Given the description of an element on the screen output the (x, y) to click on. 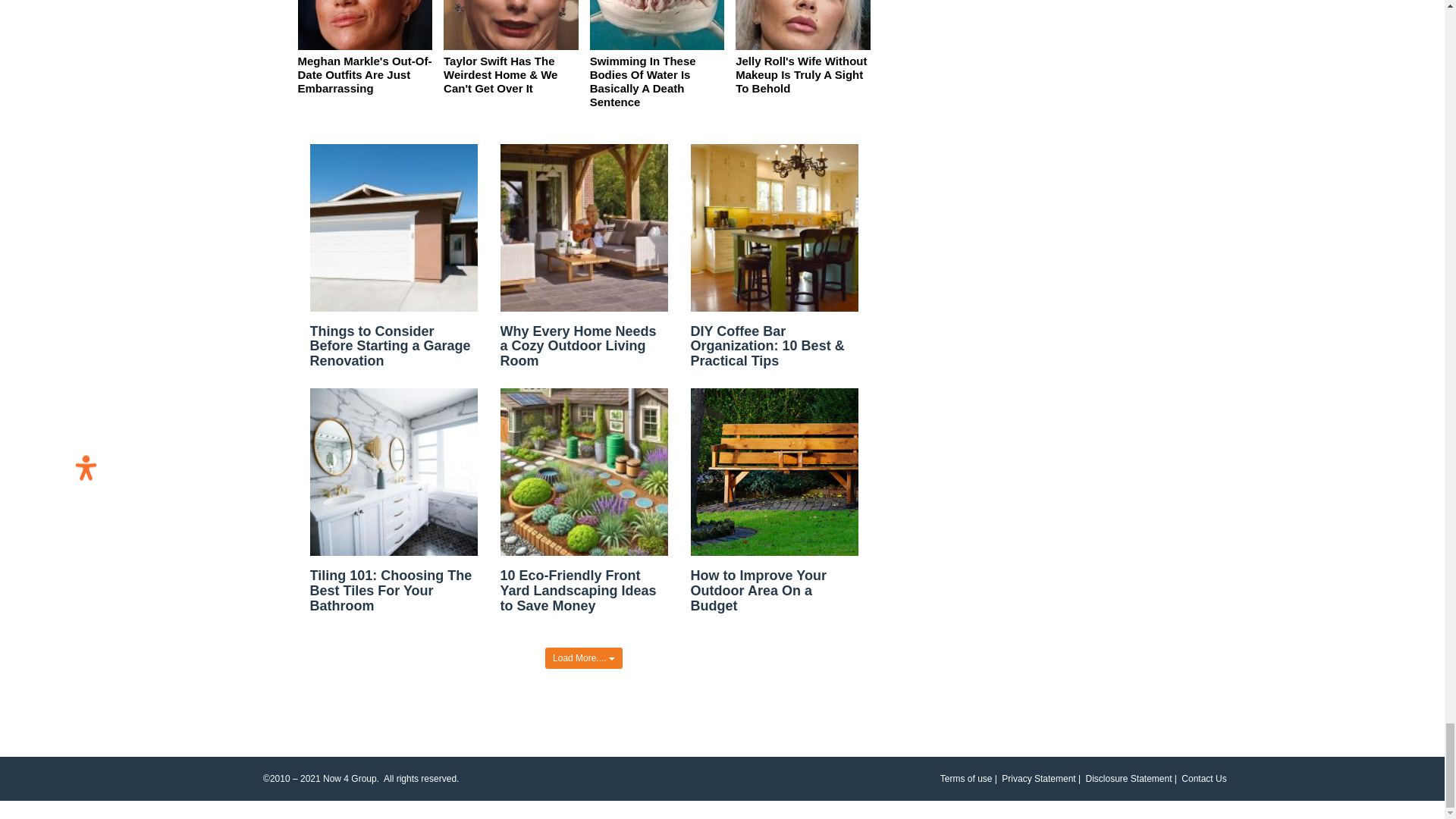
Meghan Markle's Out-Of-Date Outfits Are Just Embarrassing (363, 74)
Why Every Home Needs a Cozy Outdoor Living Room (578, 346)
Jelly Roll's Wife Without Makeup Is Truly A Sight To Behold (800, 74)
Things to Consider Before Starting a Garage Renovation (389, 346)
